Given the description of an element on the screen output the (x, y) to click on. 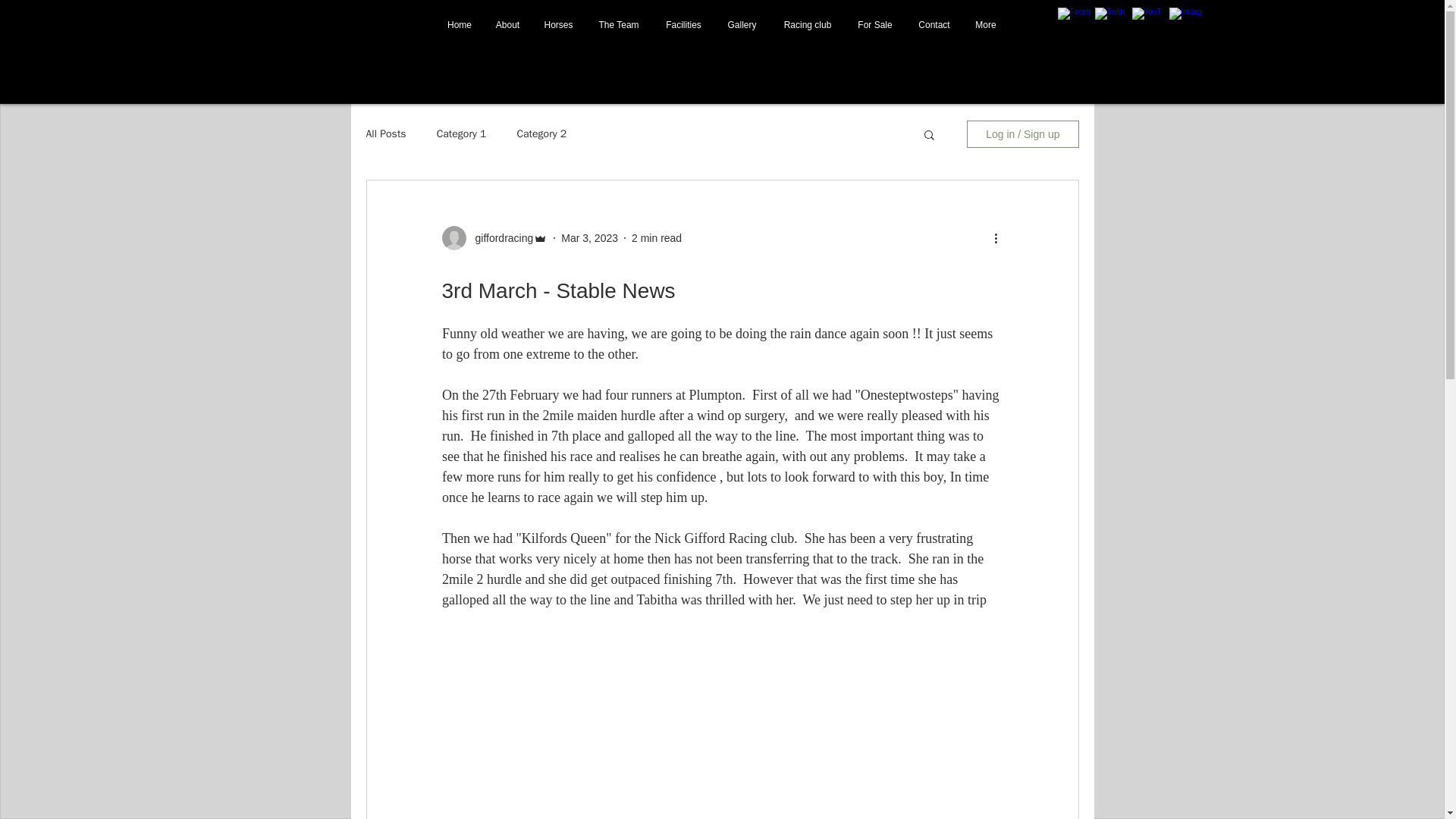
Category 1 (461, 133)
Gallery (741, 24)
2 min read (656, 237)
All Posts (385, 133)
About (507, 24)
Home (459, 24)
Contact (933, 24)
Facilities (683, 24)
For Sale (874, 24)
The Team (618, 24)
Horses (558, 24)
Category 2 (541, 133)
Racing club (806, 24)
Mar 3, 2023 (588, 237)
giffordracing (498, 238)
